Given the description of an element on the screen output the (x, y) to click on. 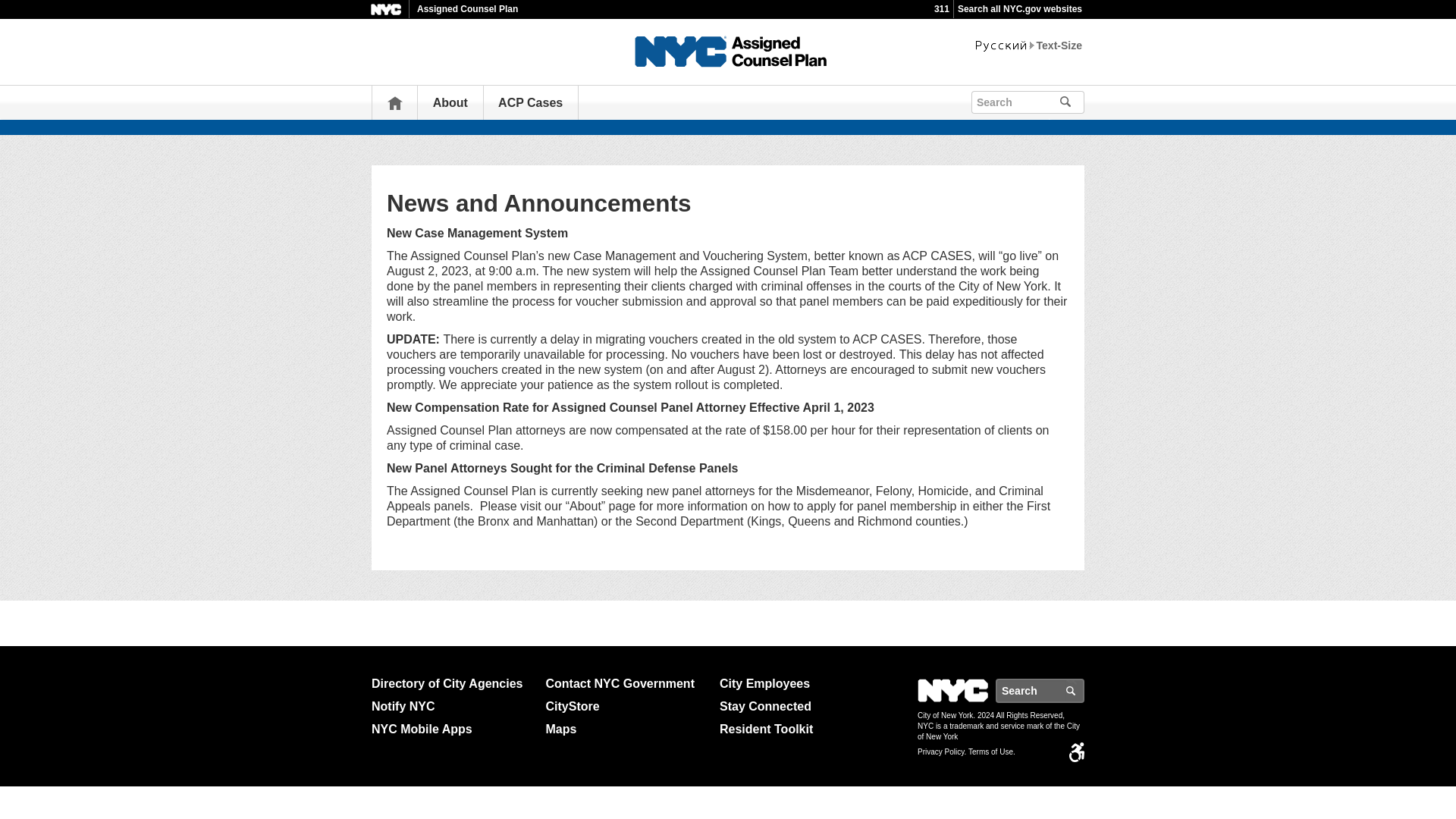
Stay Connected (800, 706)
Terms of Use. (991, 751)
Resident Toolkit (800, 729)
submit (1087, 100)
CityStore (626, 706)
Maps (626, 729)
Directory of City Agencies (452, 683)
submit (1087, 100)
ACP Cases (529, 102)
Privacy Policy. (941, 751)
